Given the description of an element on the screen output the (x, y) to click on. 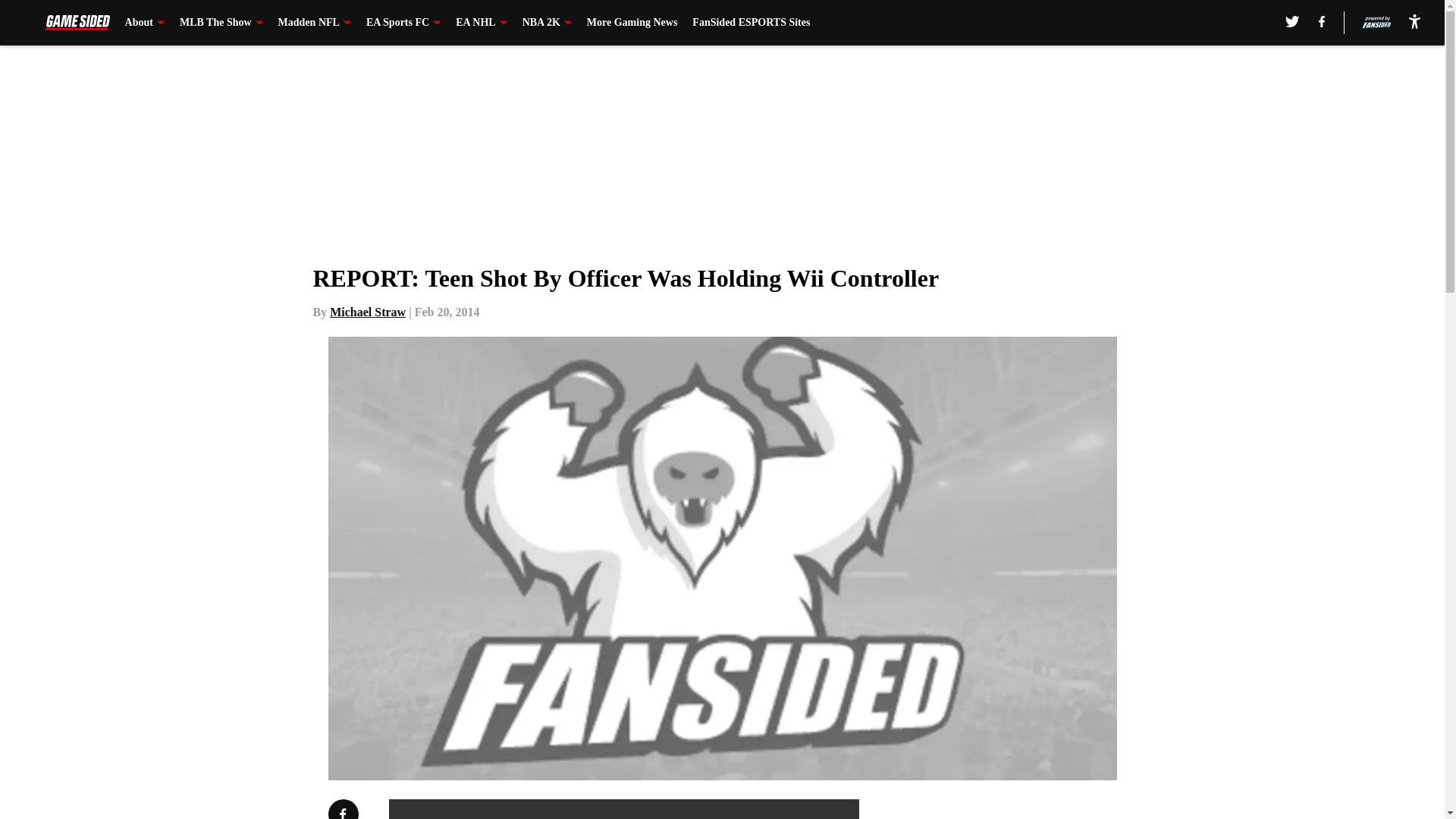
3rd party ad content (1047, 809)
Michael Straw (368, 311)
FanSided ESPORTS Sites (751, 22)
More Gaming News (632, 22)
